Given the description of an element on the screen output the (x, y) to click on. 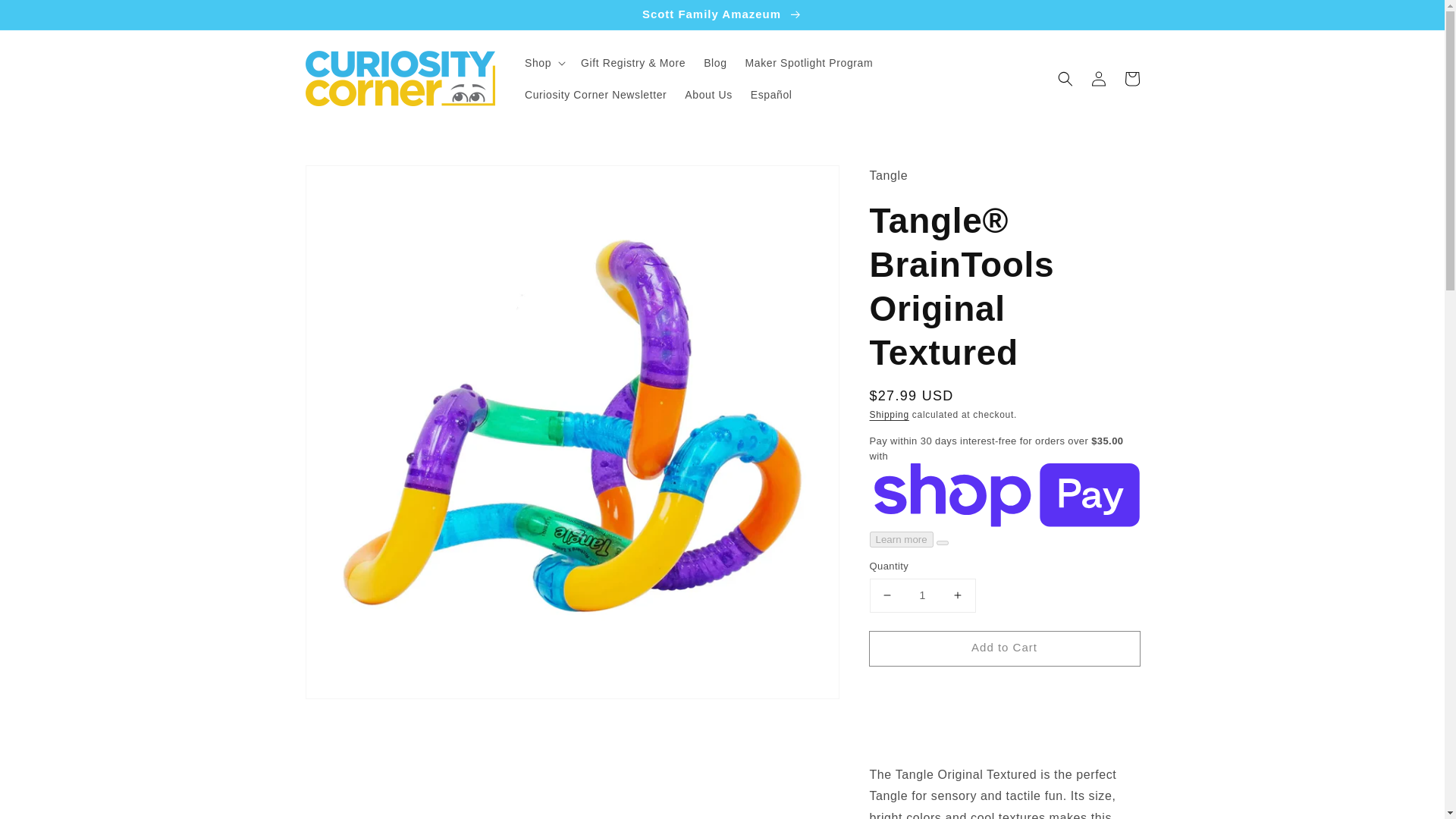
Skip to content (45, 16)
1 (922, 595)
